Given the description of an element on the screen output the (x, y) to click on. 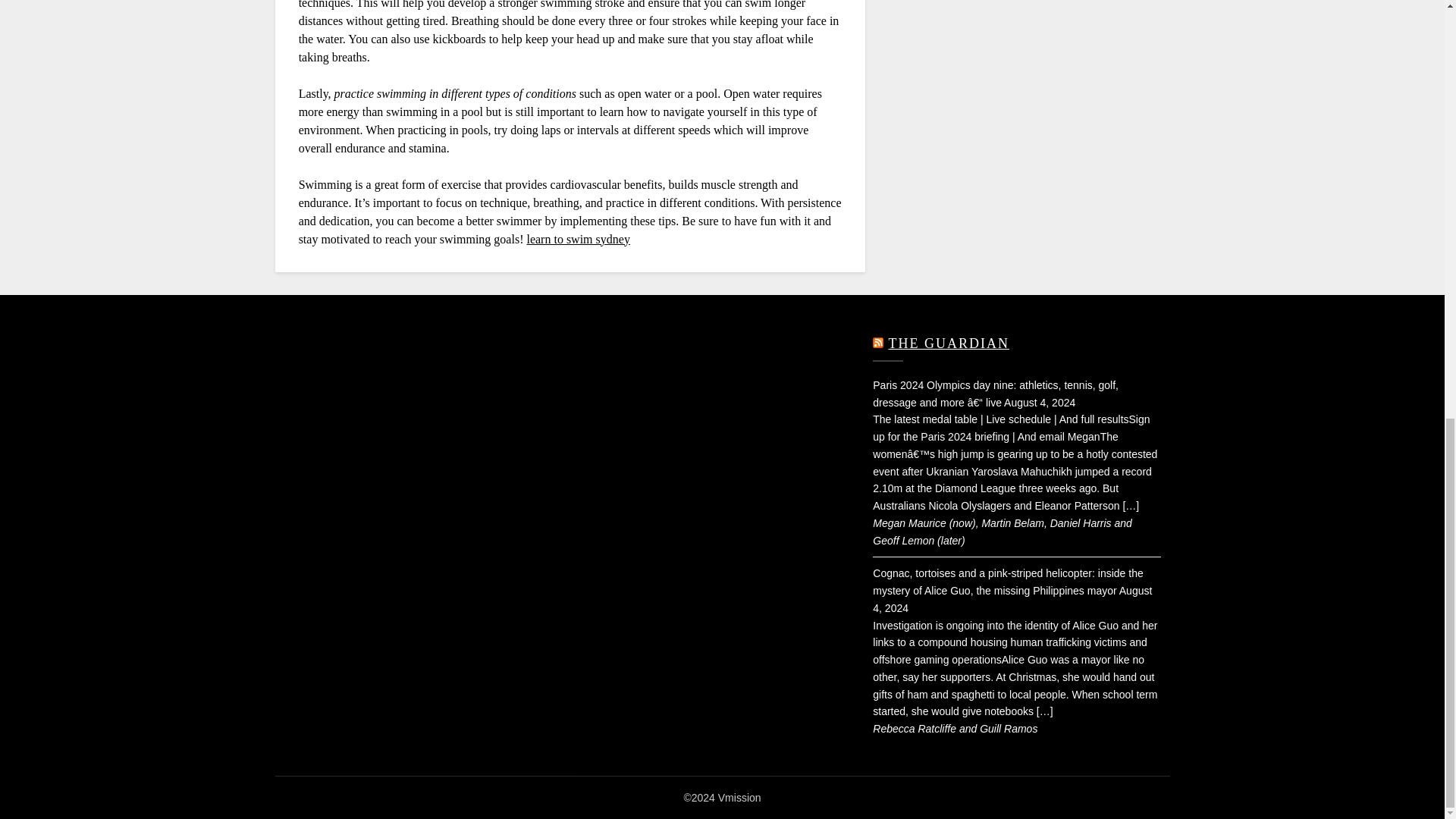
learn to swim sydney (576, 237)
THE GUARDIAN (948, 343)
